Given the description of an element on the screen output the (x, y) to click on. 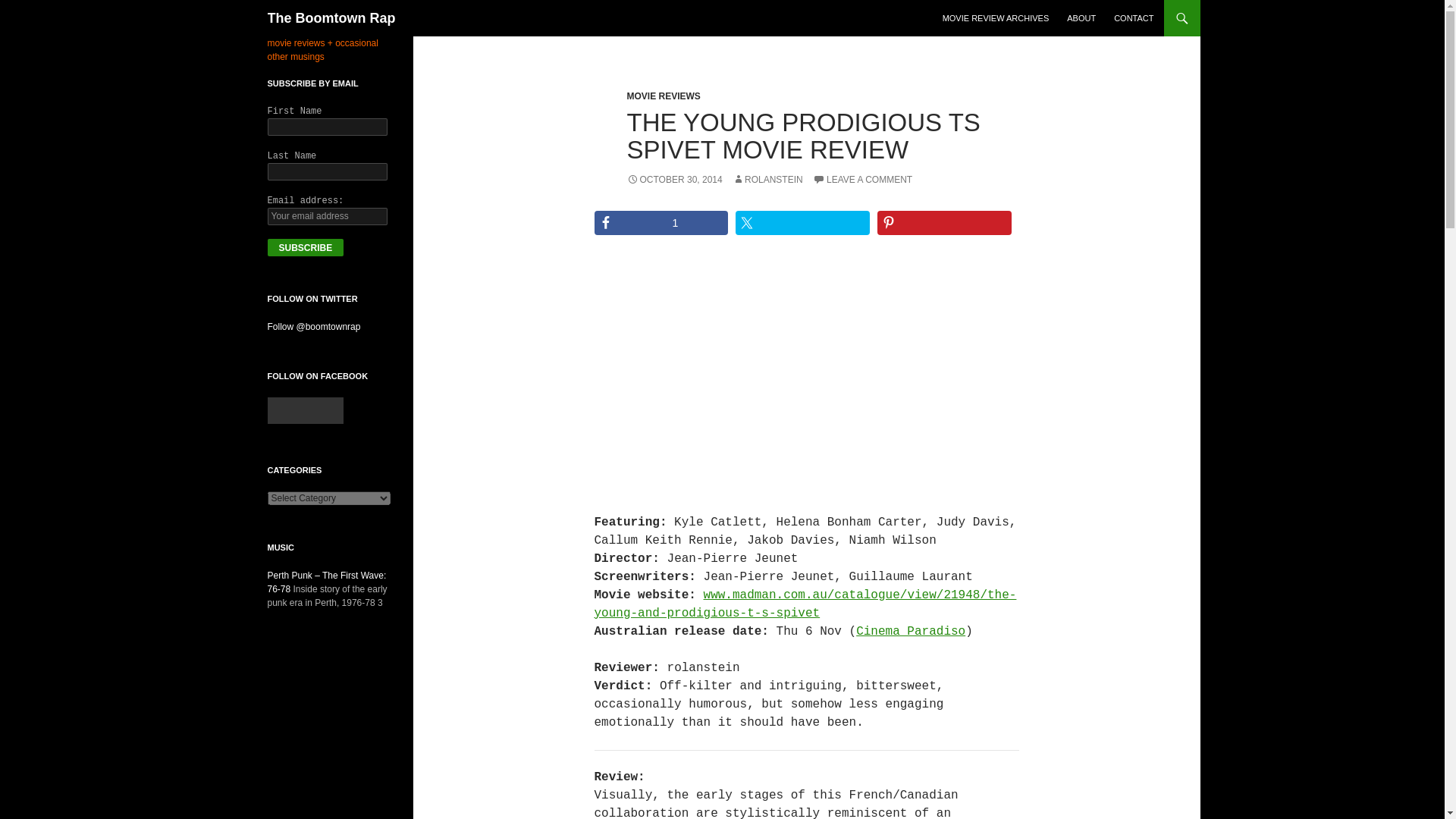
Share on Twitter (802, 222)
MOVIE REVIEWS (663, 95)
MOVIE REVIEW ARCHIVES (995, 18)
Cinema Paradiso (910, 631)
OCTOBER 30, 2014 (674, 179)
Inside story of the early punk era in Perth, 1976-78 (325, 582)
Subscribe (304, 247)
LEAVE A COMMENT (862, 179)
1 (661, 222)
Share on Pinterest (944, 222)
ROLANSTEIN (767, 179)
ABOUT (1081, 18)
The Boomtown Rap (330, 18)
Share on Facebook (661, 222)
CONTACT (1133, 18)
